Given the description of an element on the screen output the (x, y) to click on. 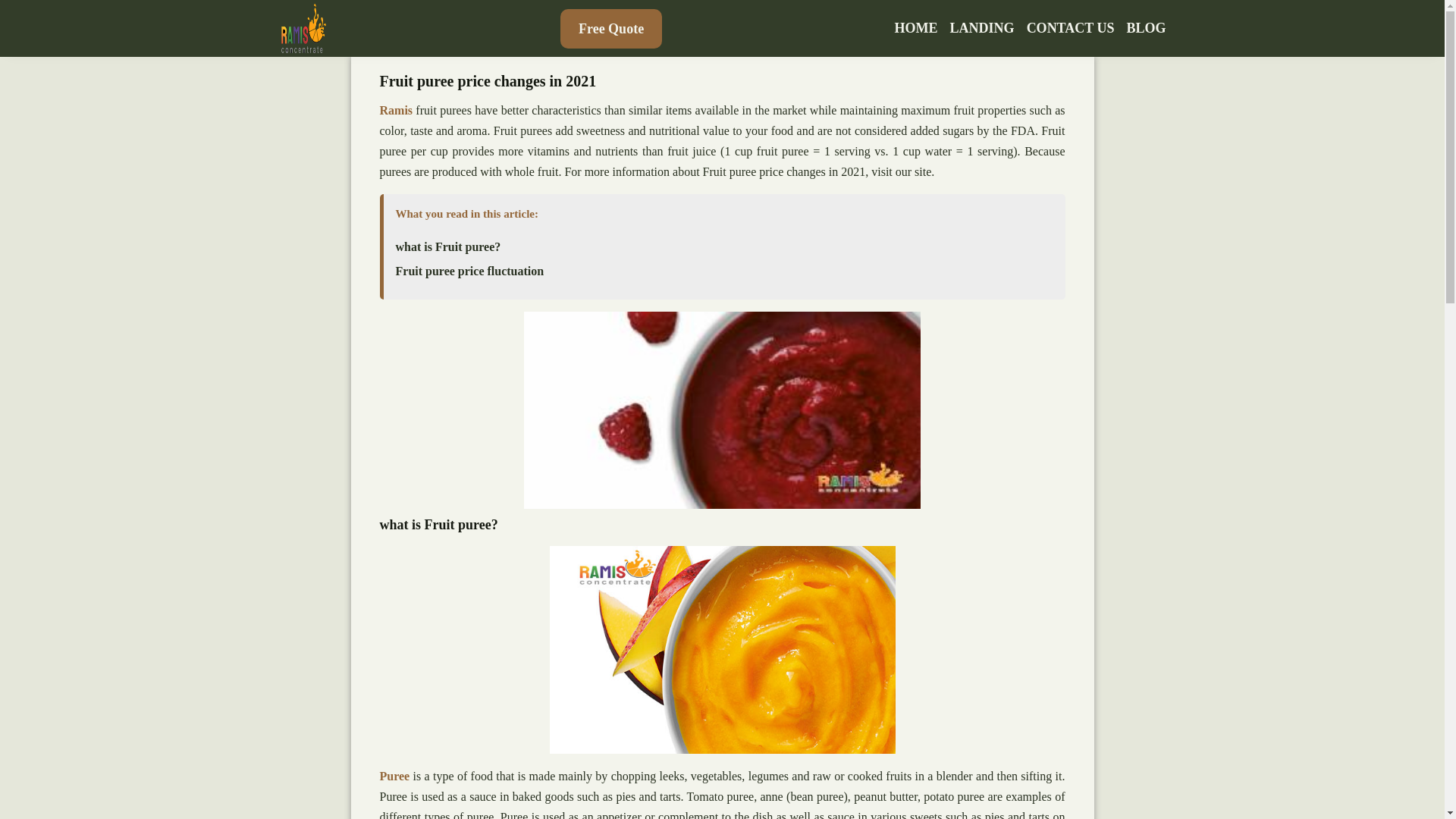
what is Fruit puree? (448, 246)
Free Quote (611, 28)
Fruit puree price fluctuation (470, 271)
Ramis (395, 110)
CONTACT US (1070, 28)
LANDING (982, 28)
BLOG (1145, 28)
HOME (916, 28)
Puree (393, 775)
